Given the description of an element on the screen output the (x, y) to click on. 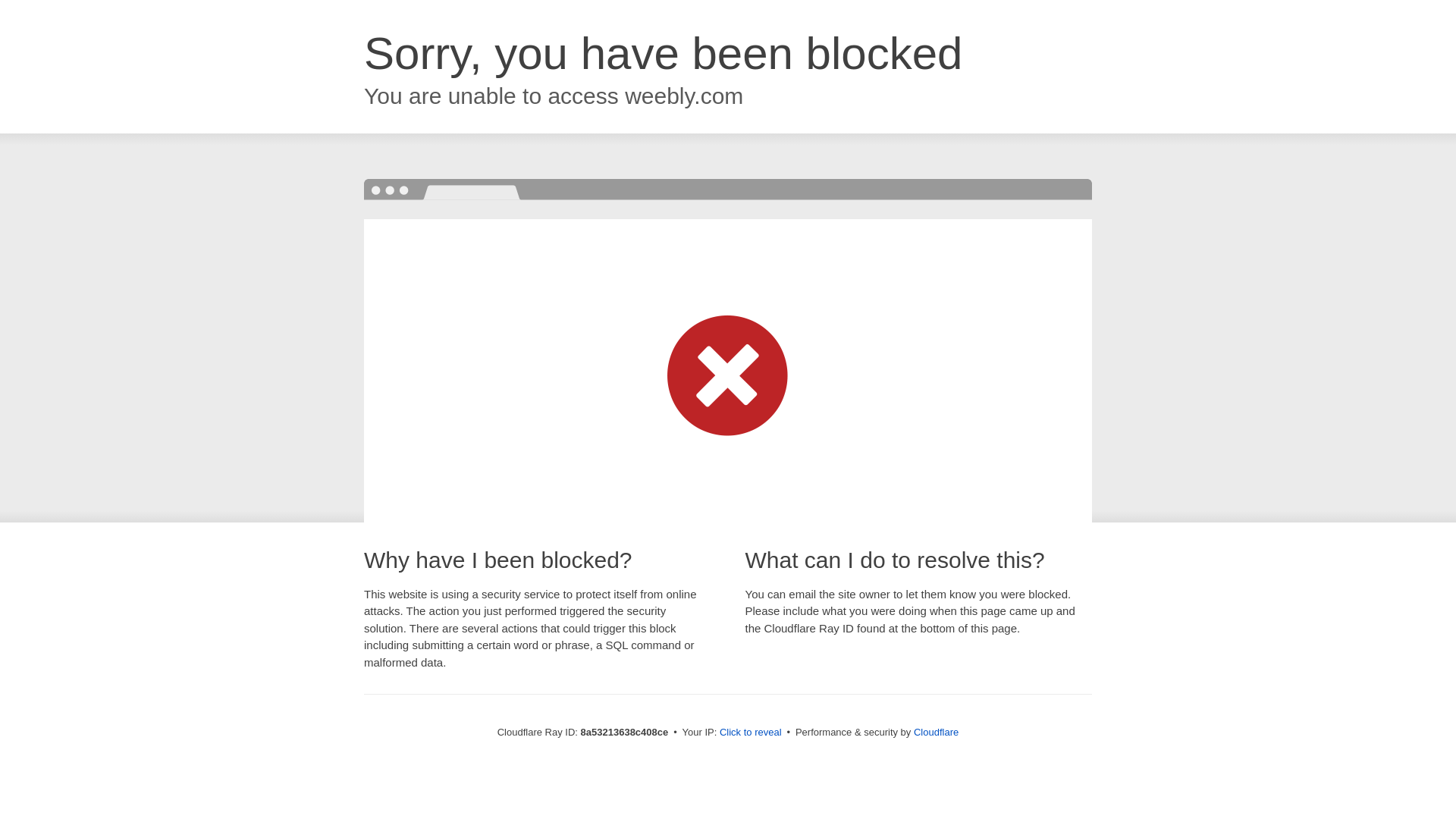
Click to reveal (750, 732)
Cloudflare (936, 731)
